Given the description of an element on the screen output the (x, y) to click on. 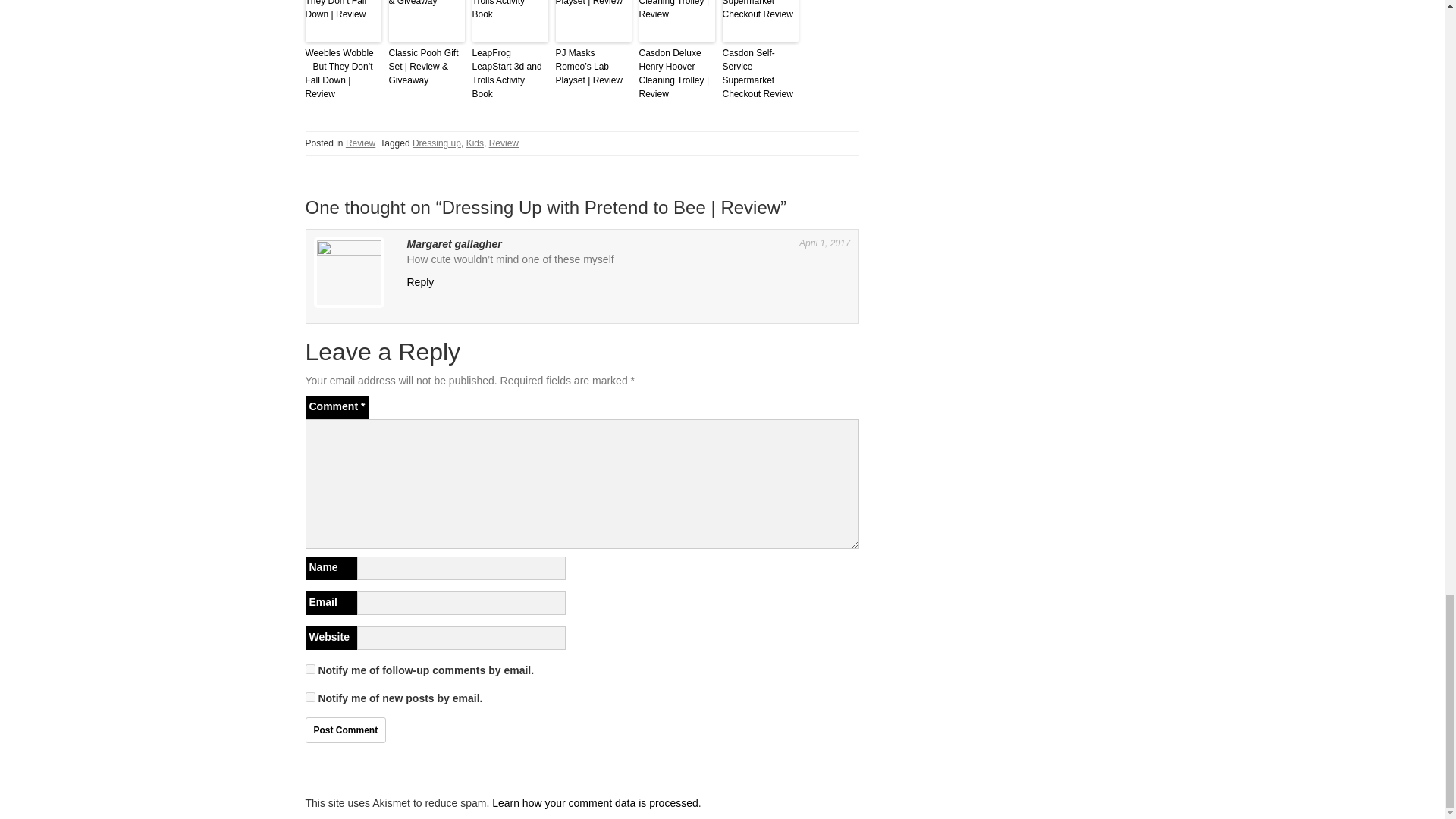
Post Comment (344, 729)
subscribe (309, 669)
LeapFrog LeapStart 3d and Trolls Activity Book (509, 72)
subscribe (309, 696)
